Given the description of an element on the screen output the (x, y) to click on. 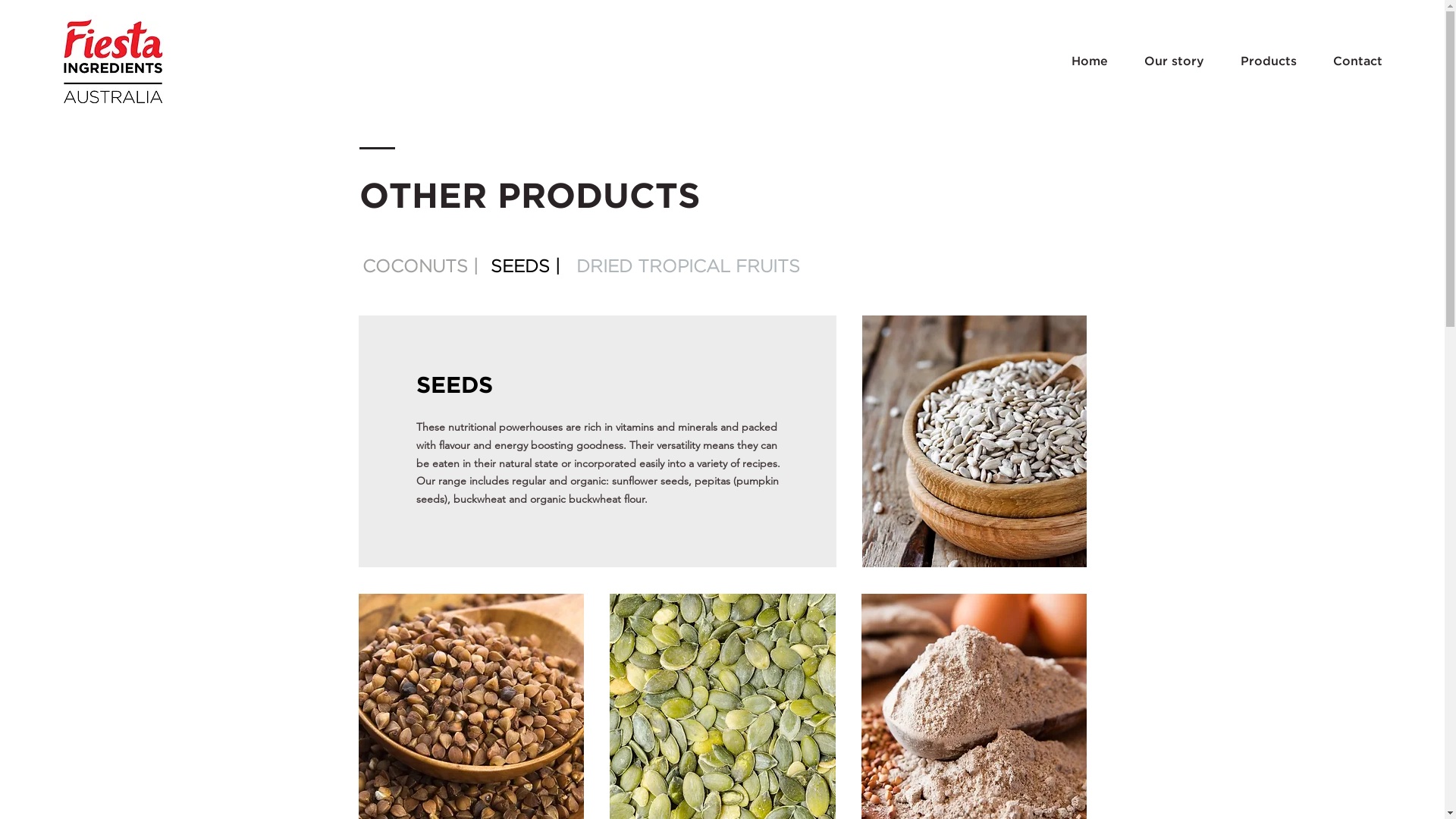
COCONUTS | Element type: text (420, 267)
Contact Element type: text (1357, 62)
DRIED TROPICAL FRUITS Element type: text (688, 267)
Our story Element type: text (993, 42)
SEEDS | Element type: text (525, 267)
Our story Element type: text (1174, 62)
Home Element type: text (1089, 62)
Home Element type: text (886, 42)
